Given the description of an element on the screen output the (x, y) to click on. 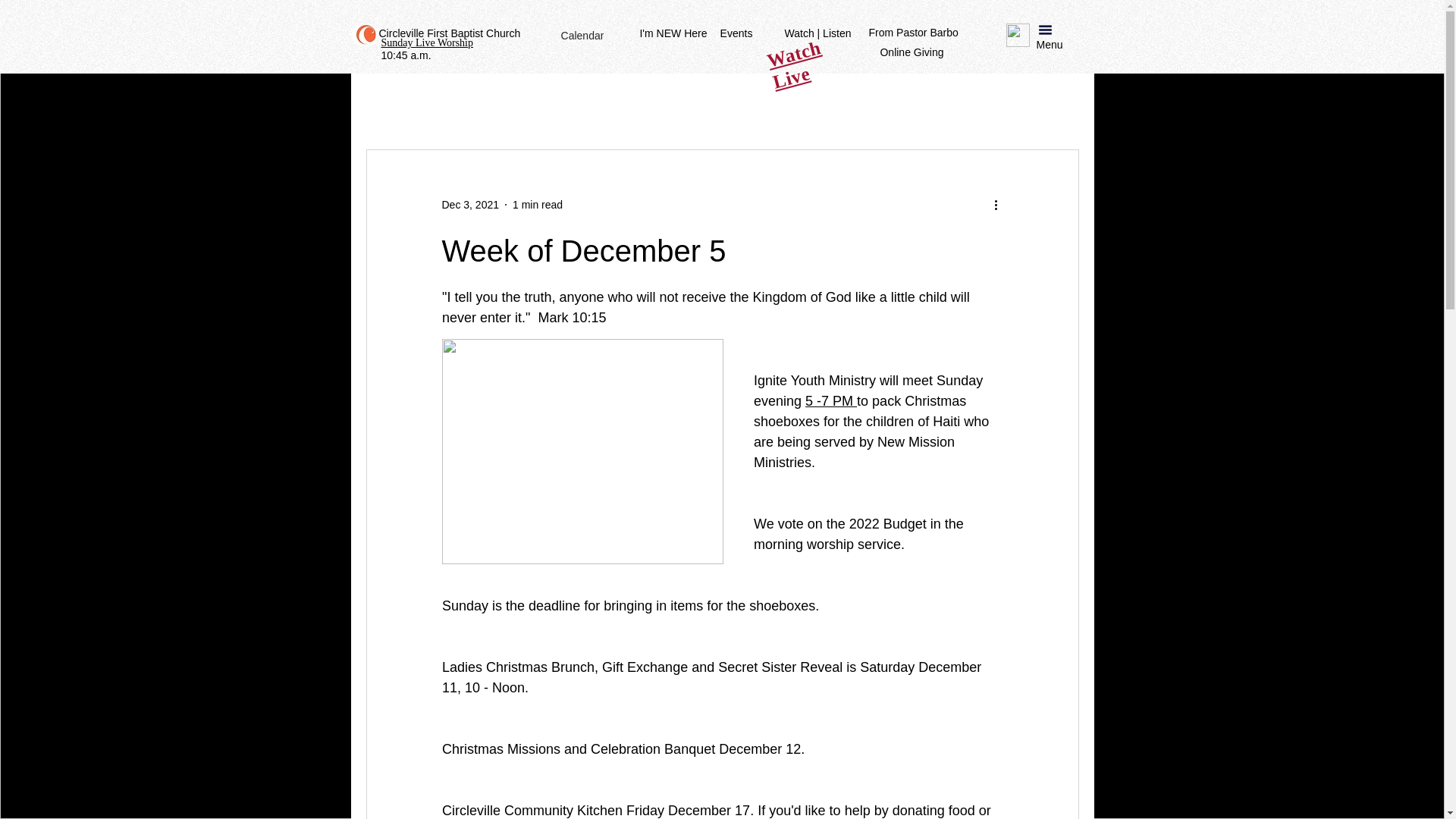
From Pastor Barbo (913, 33)
Online Giving (911, 52)
All Posts (390, 104)
Watch Live (791, 57)
I'm NEW Here (673, 33)
Menu (1048, 45)
Calendar (582, 35)
Dec 3, 2021 (470, 204)
Sunday Live Worship (426, 42)
1 min read (537, 204)
Events (735, 33)
